Given the description of an element on the screen output the (x, y) to click on. 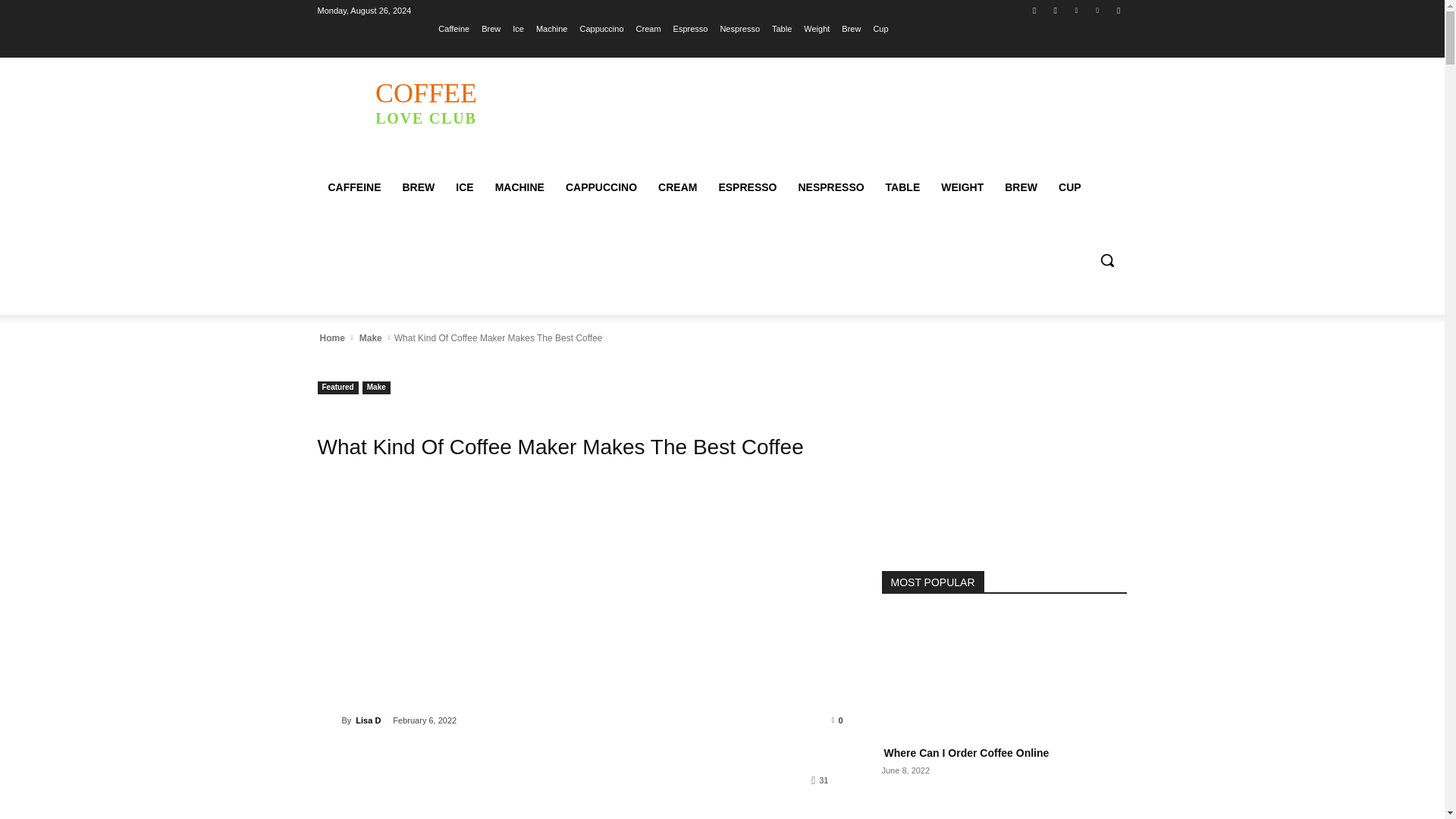
Weight (425, 102)
Espresso (816, 28)
Instagram (689, 28)
Nespresso (1055, 9)
View all posts in Make (739, 28)
Vimeo (370, 337)
Cream (1097, 9)
Lisa D (648, 28)
Youtube (328, 720)
